Given the description of an element on the screen output the (x, y) to click on. 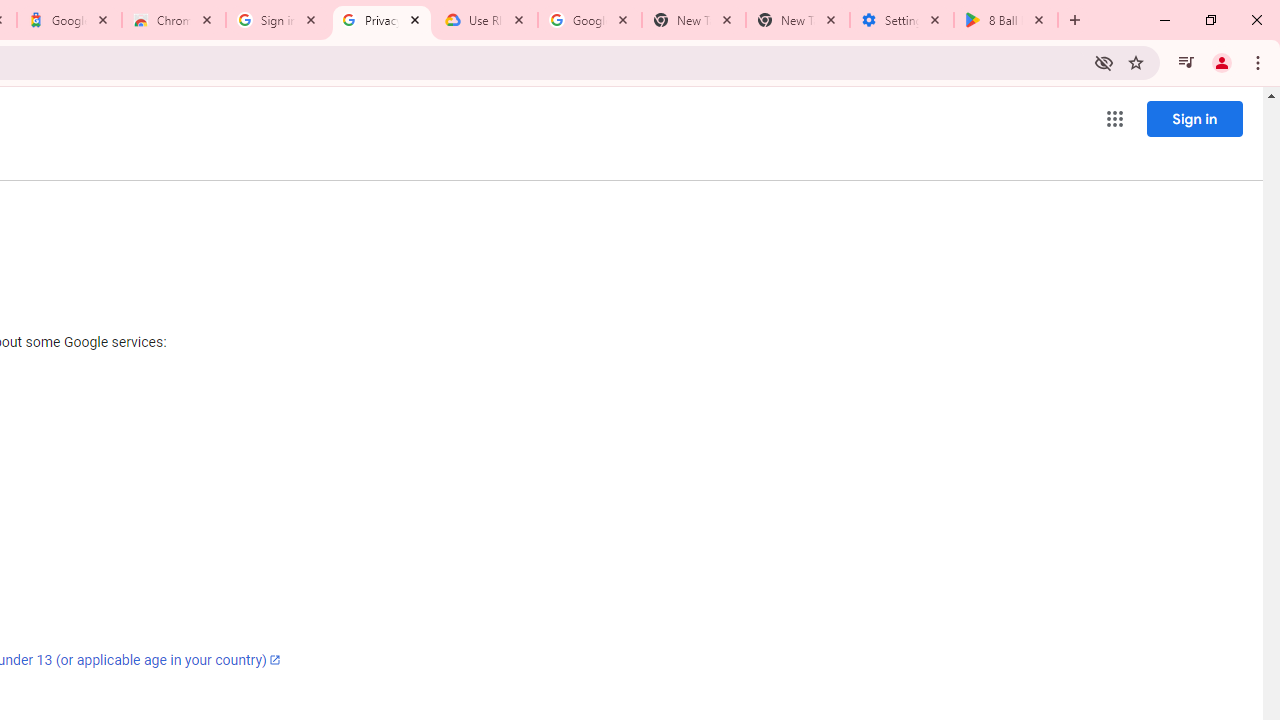
8 Ball Pool - Apps on Google Play (1005, 20)
New Tab (797, 20)
